Given the description of an element on the screen output the (x, y) to click on. 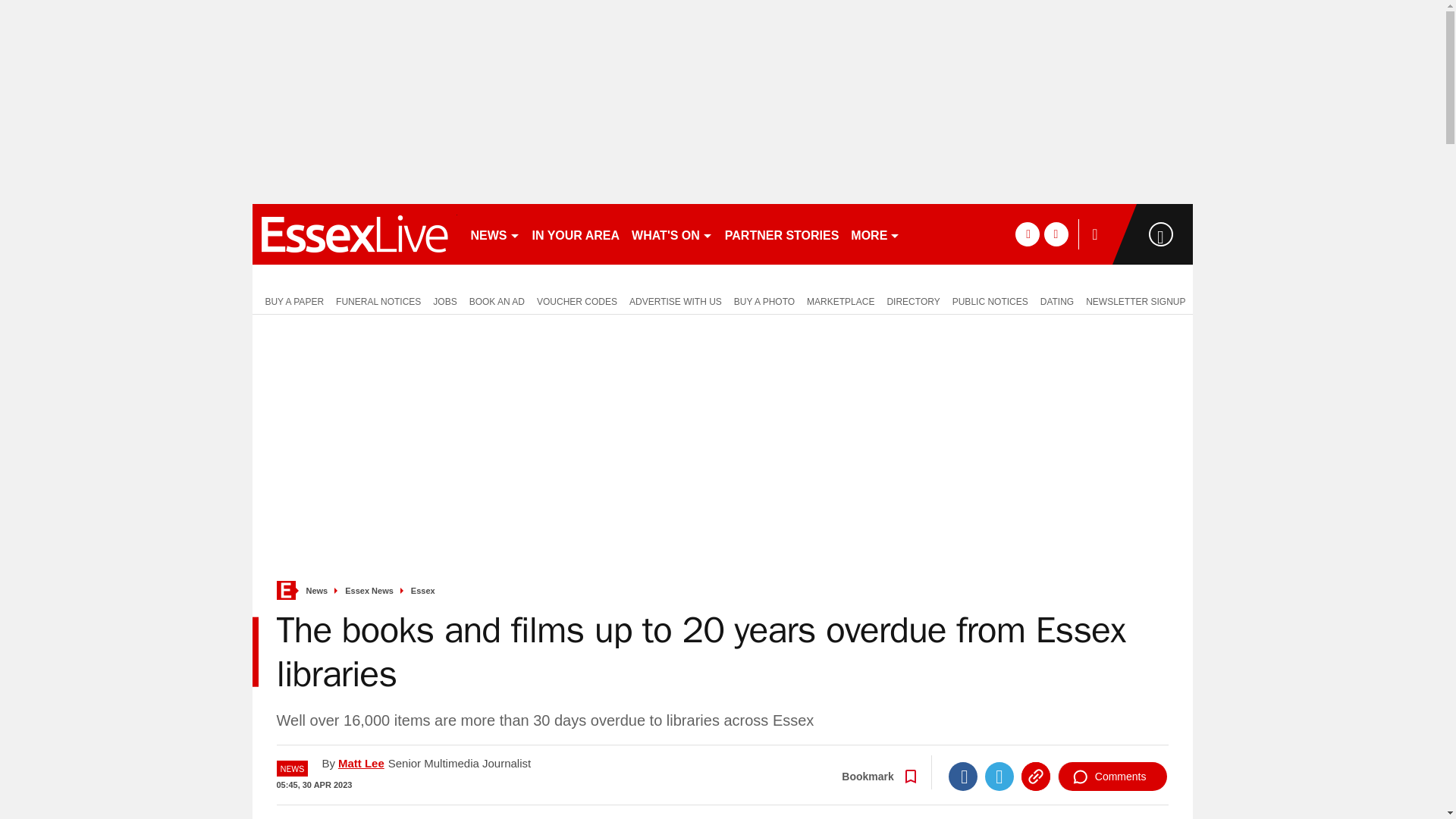
IN YOUR AREA (575, 233)
Comments (1112, 776)
NEWS (494, 233)
Twitter (999, 776)
PARTNER STORIES (782, 233)
twitter (1055, 233)
WHAT'S ON (672, 233)
facebook (1026, 233)
essexlive (354, 233)
MORE (874, 233)
